Given the description of an element on the screen output the (x, y) to click on. 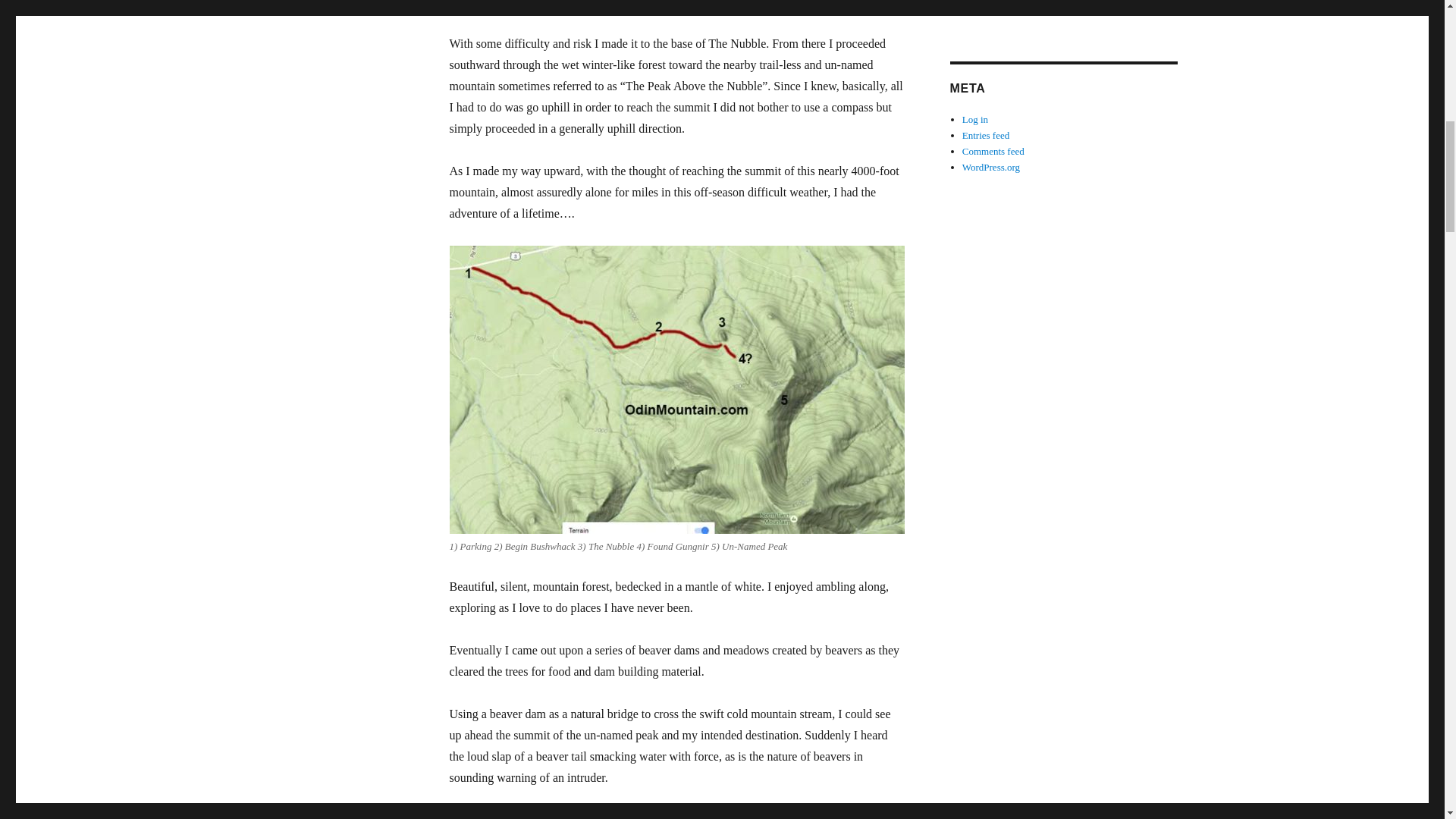
Comments feed (993, 151)
WordPress.org (991, 166)
Entries feed (985, 134)
Uncategorized (991, 9)
Log in (975, 119)
